Given the description of an element on the screen output the (x, y) to click on. 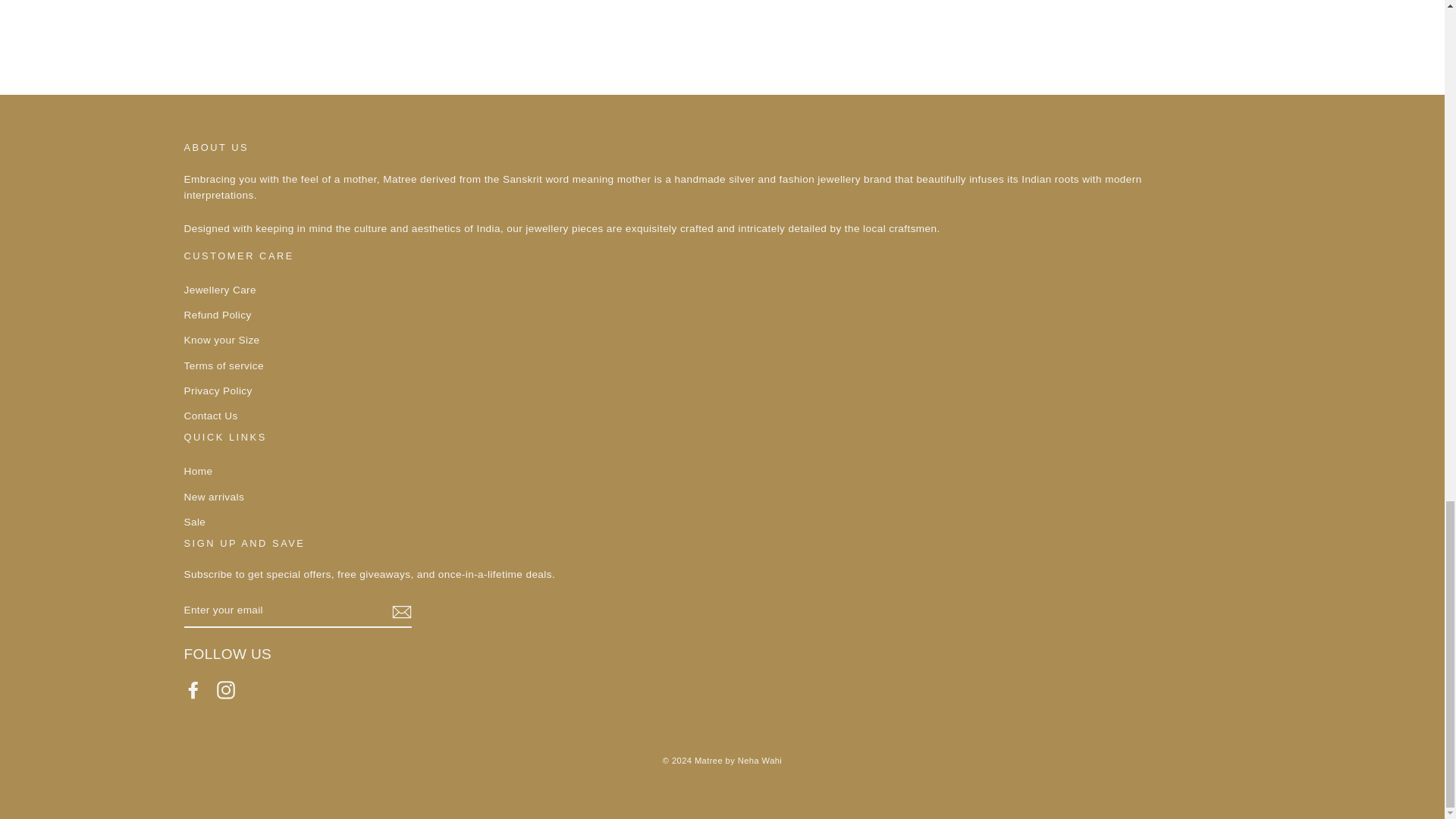
Matree by Neha Wahi on Instagram (225, 689)
Matree by Neha Wahi on Facebook (192, 689)
